Given the description of an element on the screen output the (x, y) to click on. 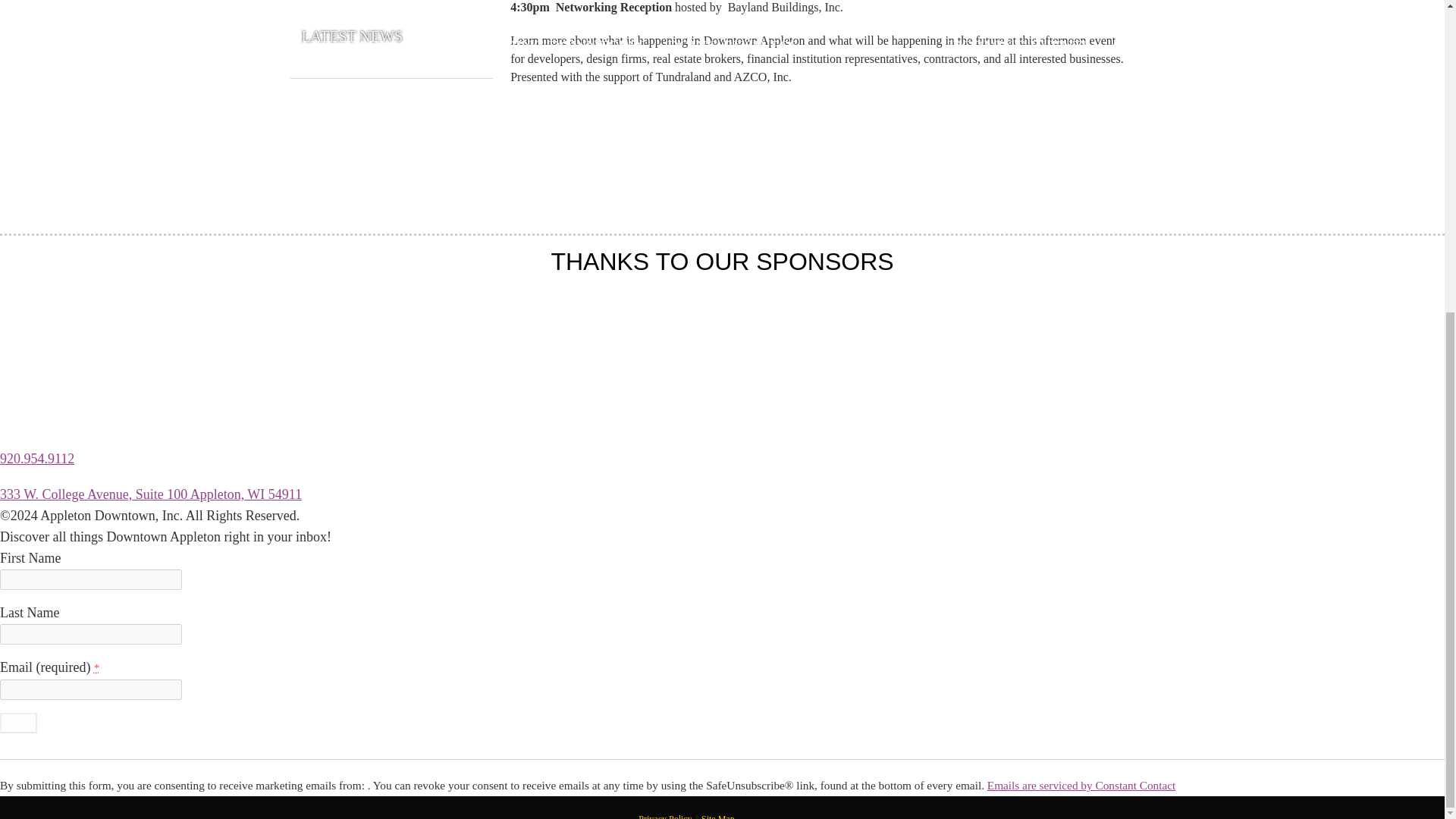
GO! (18, 722)
